Given the description of an element on the screen output the (x, y) to click on. 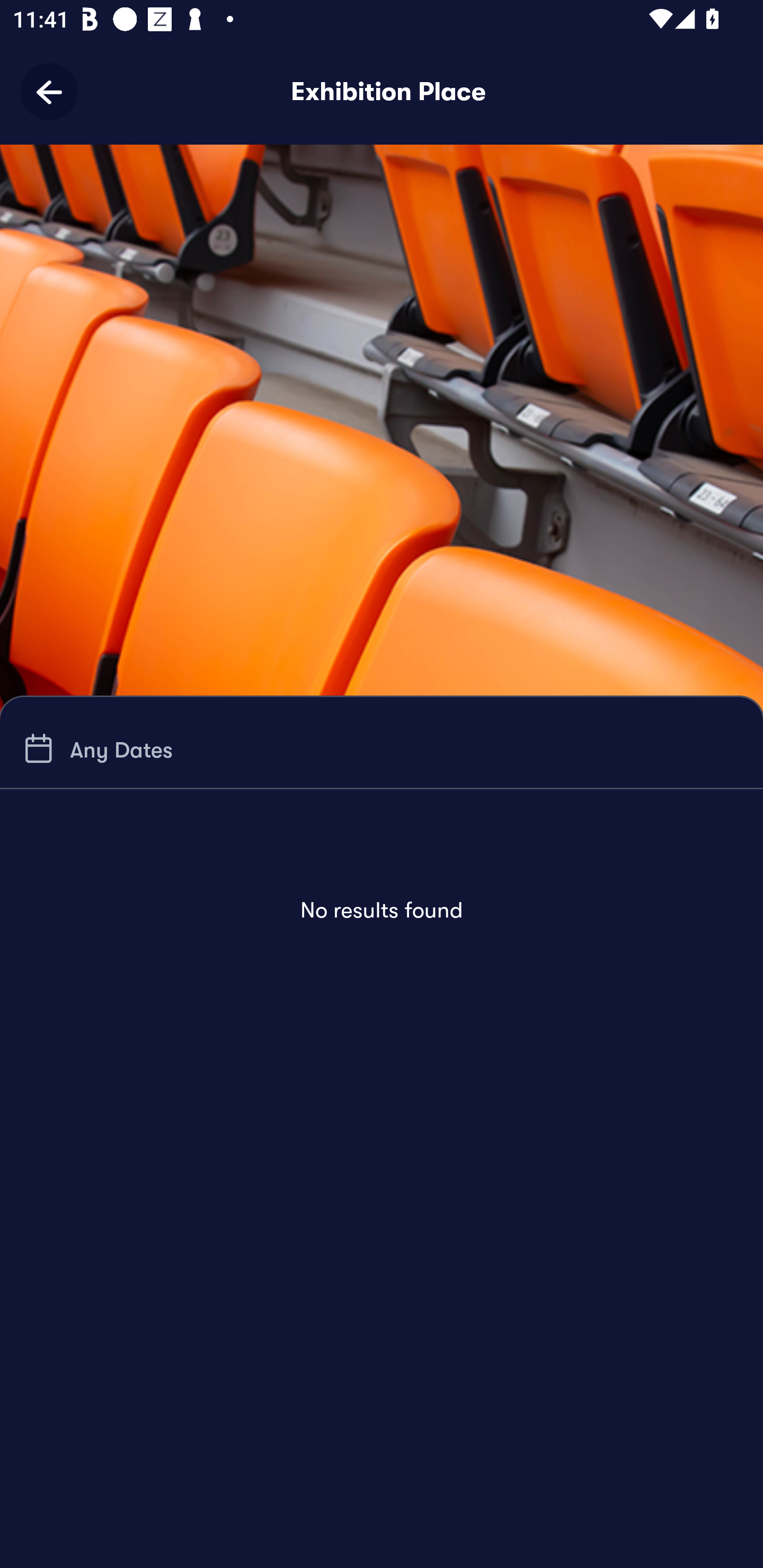
Any Dates (95, 749)
